Given the description of an element on the screen output the (x, y) to click on. 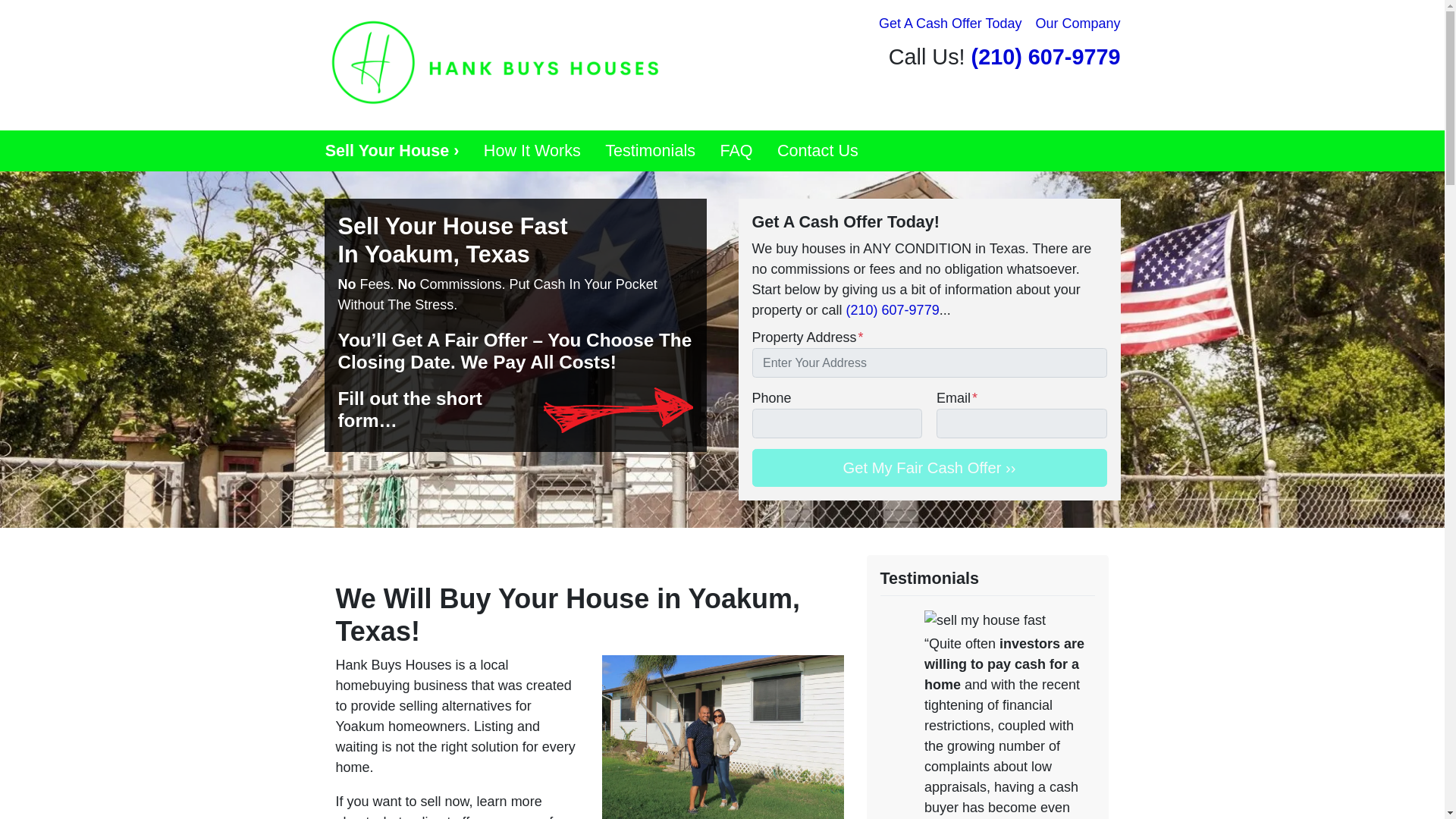
How It Works (531, 150)
Testimonials (649, 150)
Contact Us (817, 150)
Testimonials (649, 150)
Contact Us (817, 150)
Our Company (1076, 23)
FAQ (736, 150)
Get A Cash Offer Today (949, 23)
Arrow Right (618, 410)
FAQ (736, 150)
